Given the description of an element on the screen output the (x, y) to click on. 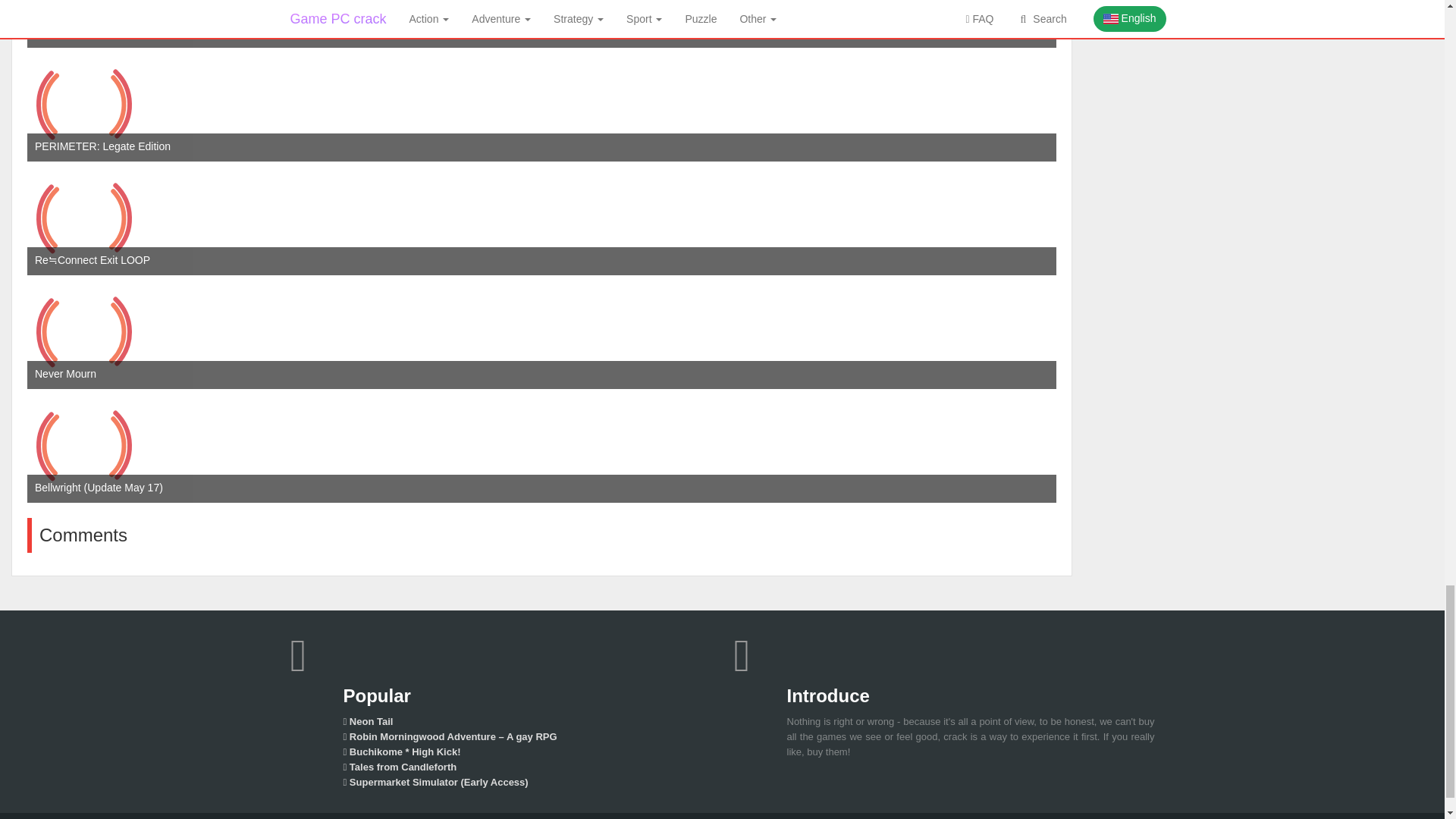
PERIMETER: Legate Edition (84, 104)
Never Mourn (84, 332)
Harvest Hunt (84, 23)
